Given the description of an element on the screen output the (x, y) to click on. 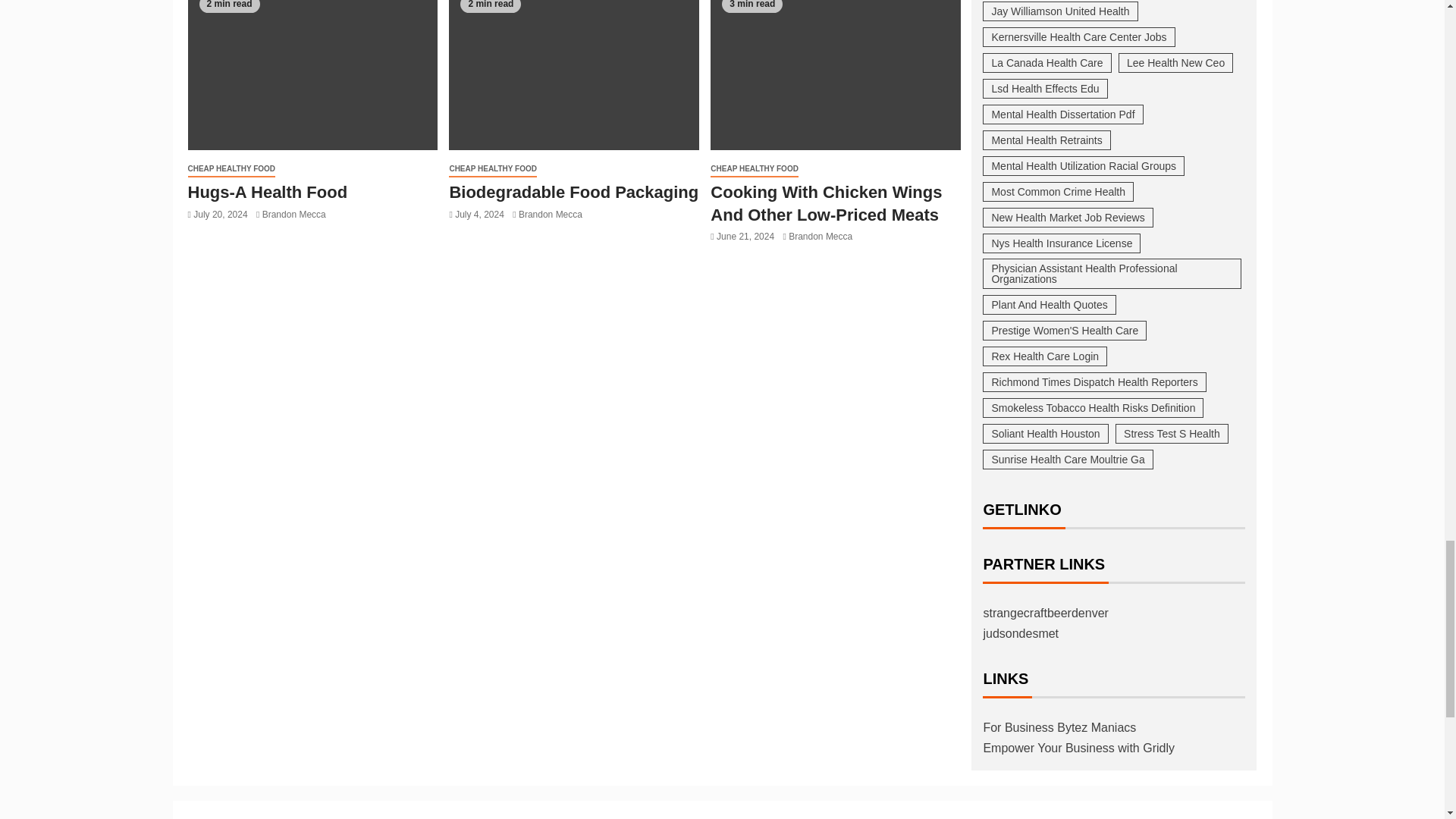
Hugs-A Health Food (312, 74)
Cooking With Chicken Wings And Other Low-Priced Meats (835, 74)
Biodegradable Food Packaging (573, 74)
